Given the description of an element on the screen output the (x, y) to click on. 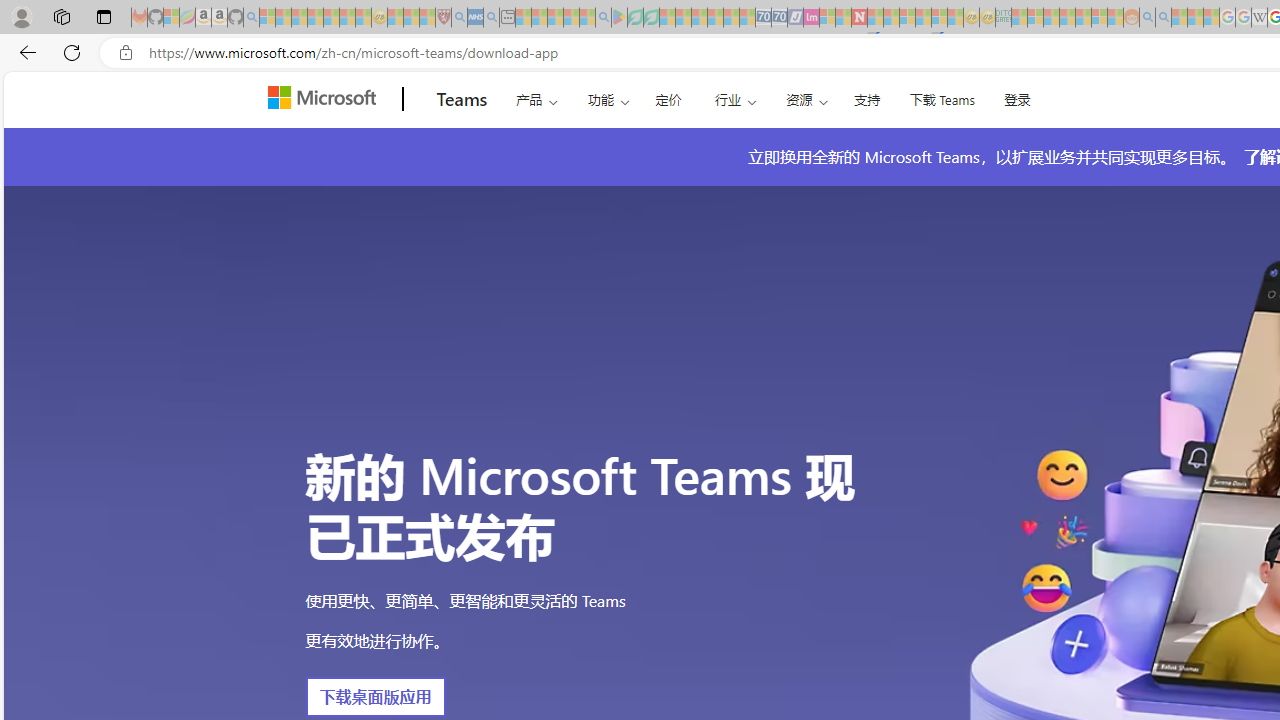
Cheap Hotels - Save70.com - Sleeping (779, 17)
Expert Portfolios - Sleeping (1067, 17)
14 Common Myths Debunked By Scientific Facts - Sleeping (891, 17)
Kinda Frugal - MSN - Sleeping (1083, 17)
Terms of Use Agreement - Sleeping (635, 17)
Teams (461, 99)
